Given the description of an element on the screen output the (x, y) to click on. 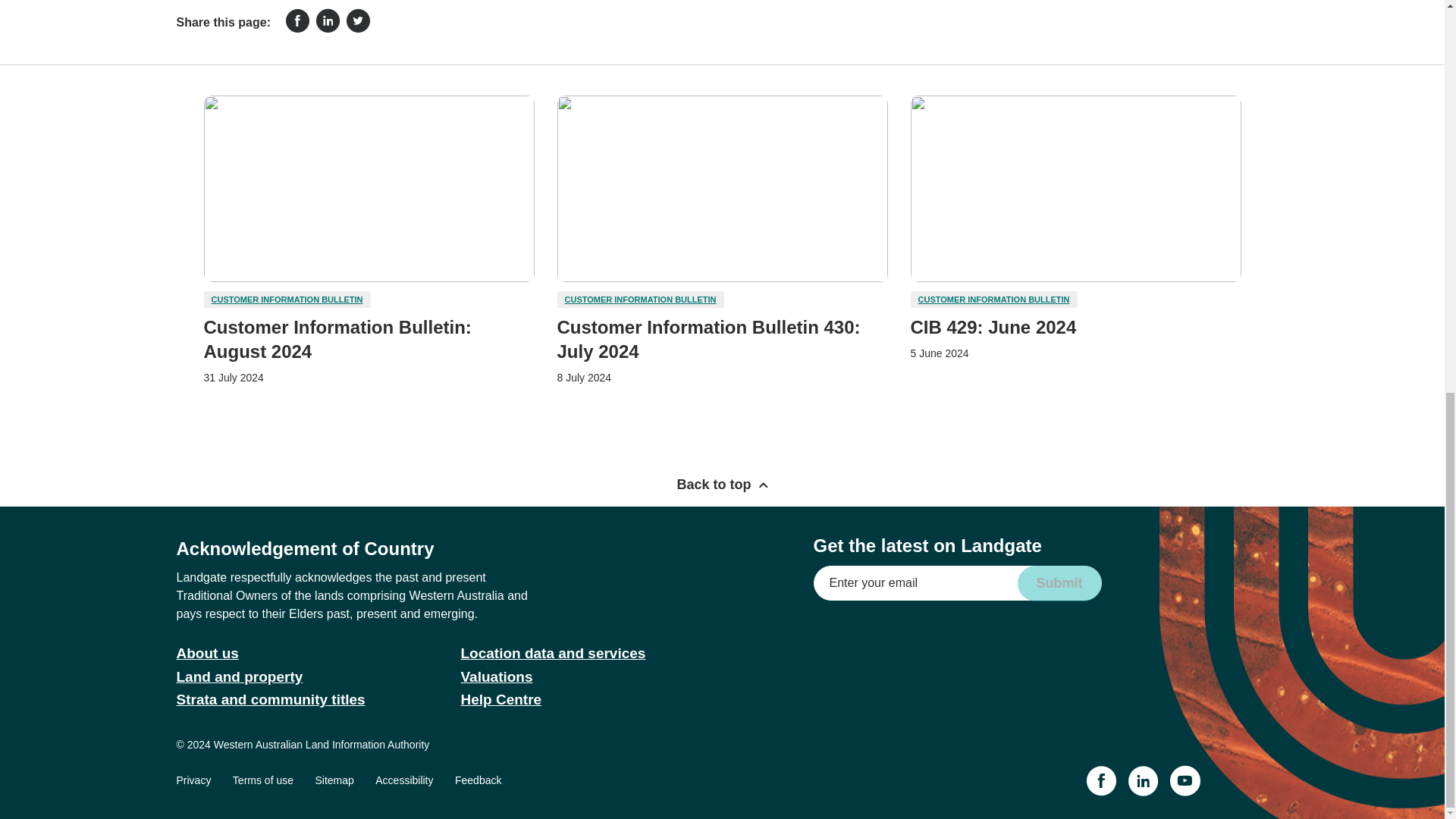
Location data and services (553, 652)
Help Centre (501, 699)
Valuations (496, 676)
